Given the description of an element on the screen output the (x, y) to click on. 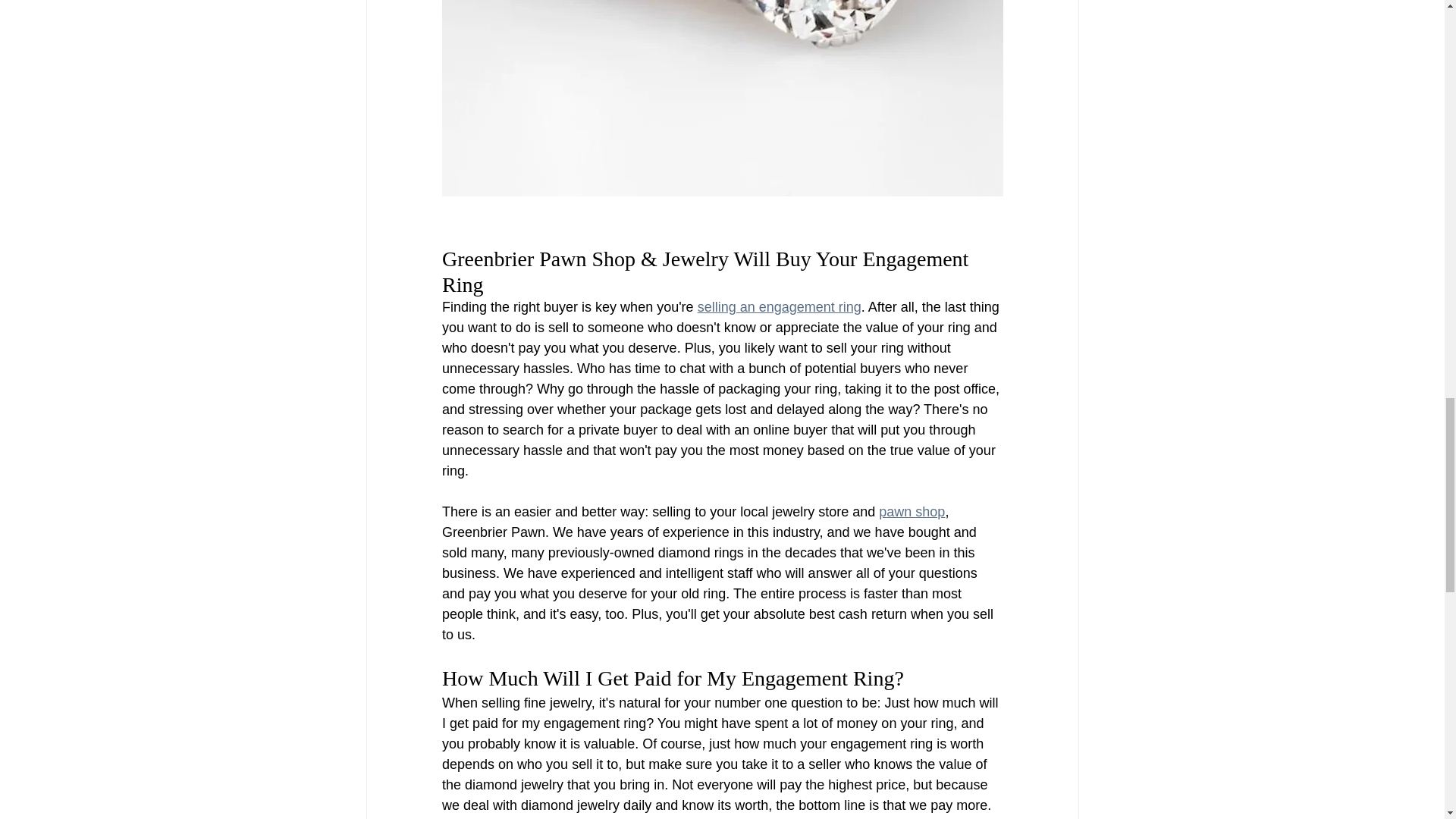
pawn shop (911, 511)
selling an engagement ring (778, 306)
